Given the description of an element on the screen output the (x, y) to click on. 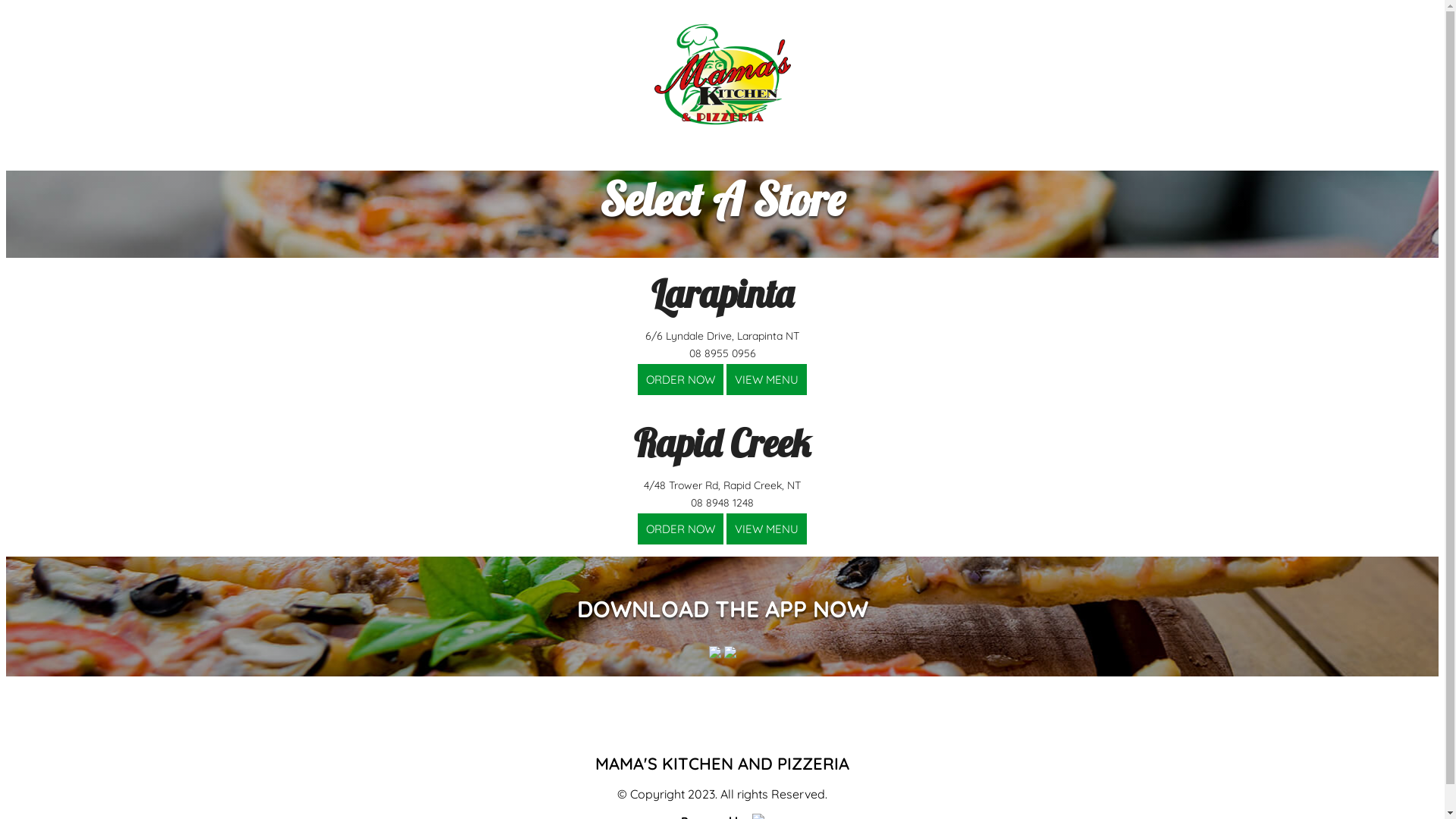
ORDER NOW Element type: text (680, 378)
Mama's Kitchen and Pizzeria Element type: hover (721, 74)
ORDER NOW Element type: text (680, 379)
VIEW MENU Element type: text (766, 378)
ORDER NOW Element type: text (680, 528)
ORDER NOW Element type: text (680, 528)
VIEW MENU Element type: text (766, 528)
VIEW MENU Element type: text (766, 528)
VIEW MENU Element type: text (766, 379)
